Given the description of an element on the screen output the (x, y) to click on. 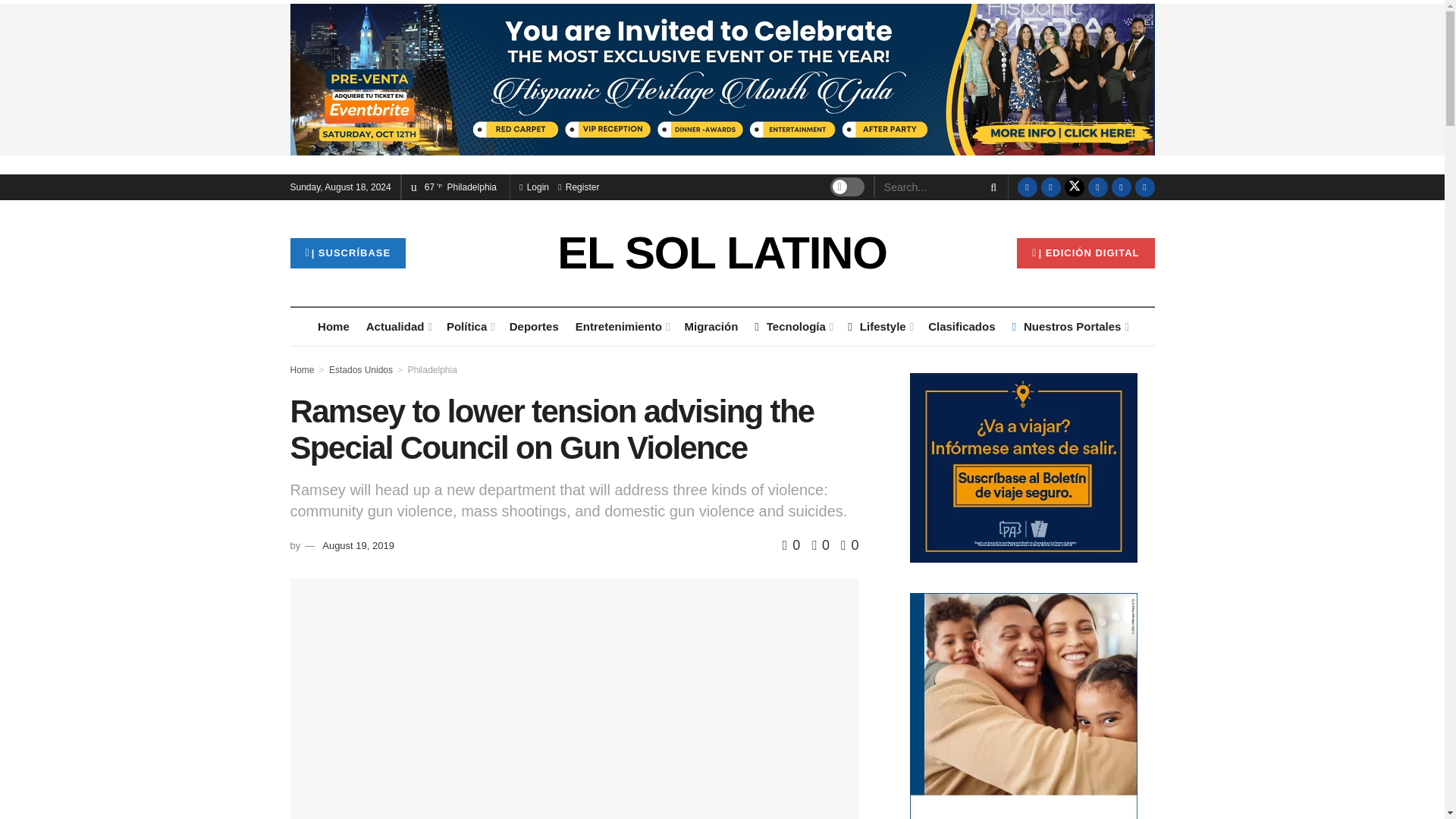
Login (533, 186)
EL SOL LATINO (721, 253)
Deportes (534, 326)
Actualidad (397, 326)
Entretenimiento (621, 326)
Register (577, 186)
